Given the description of an element on the screen output the (x, y) to click on. 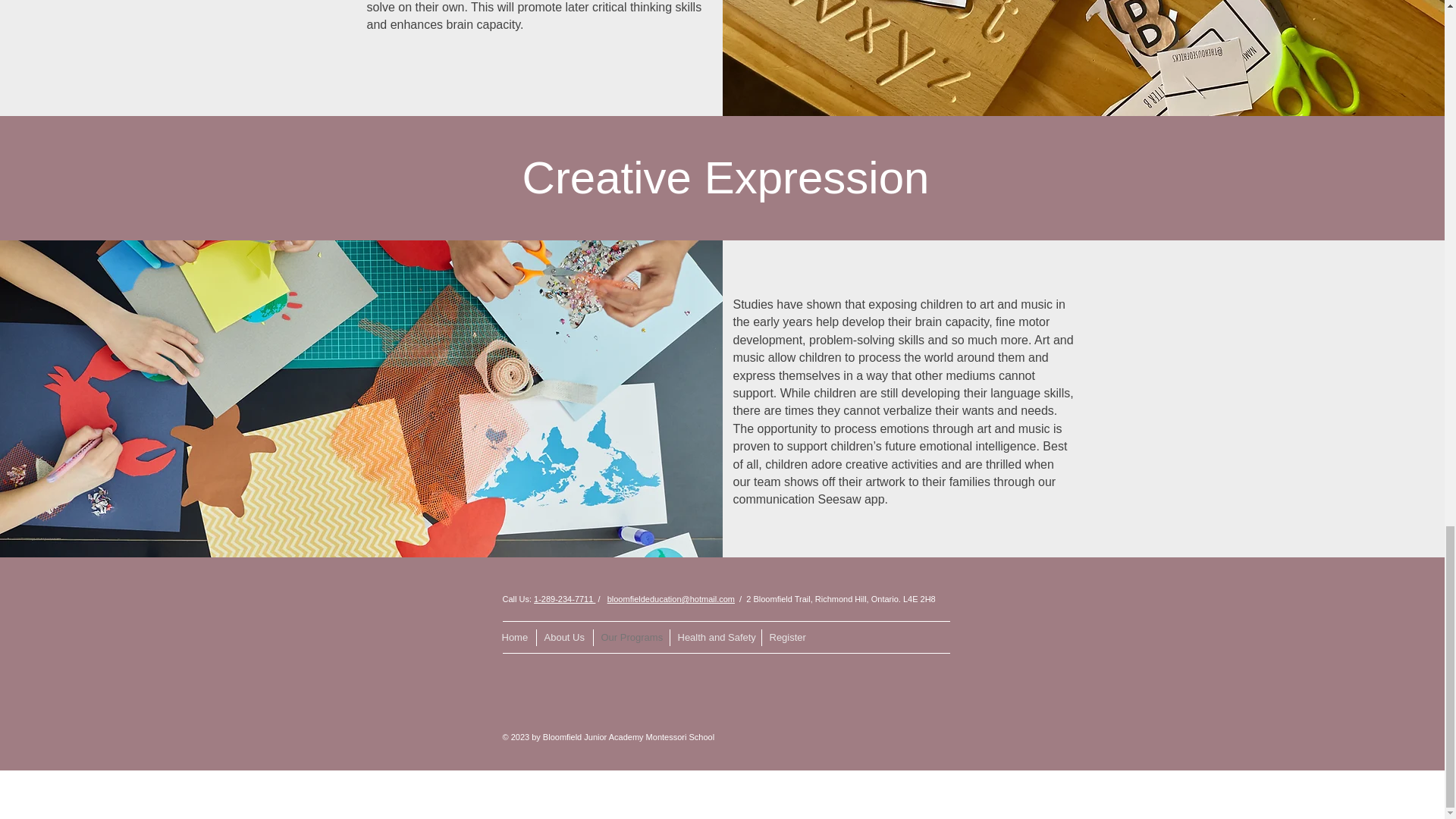
Register (786, 637)
Home (515, 637)
1-289-234-7711  (564, 598)
Our Programs (630, 637)
About Us (563, 637)
Health and Safety (714, 637)
